Given the description of an element on the screen output the (x, y) to click on. 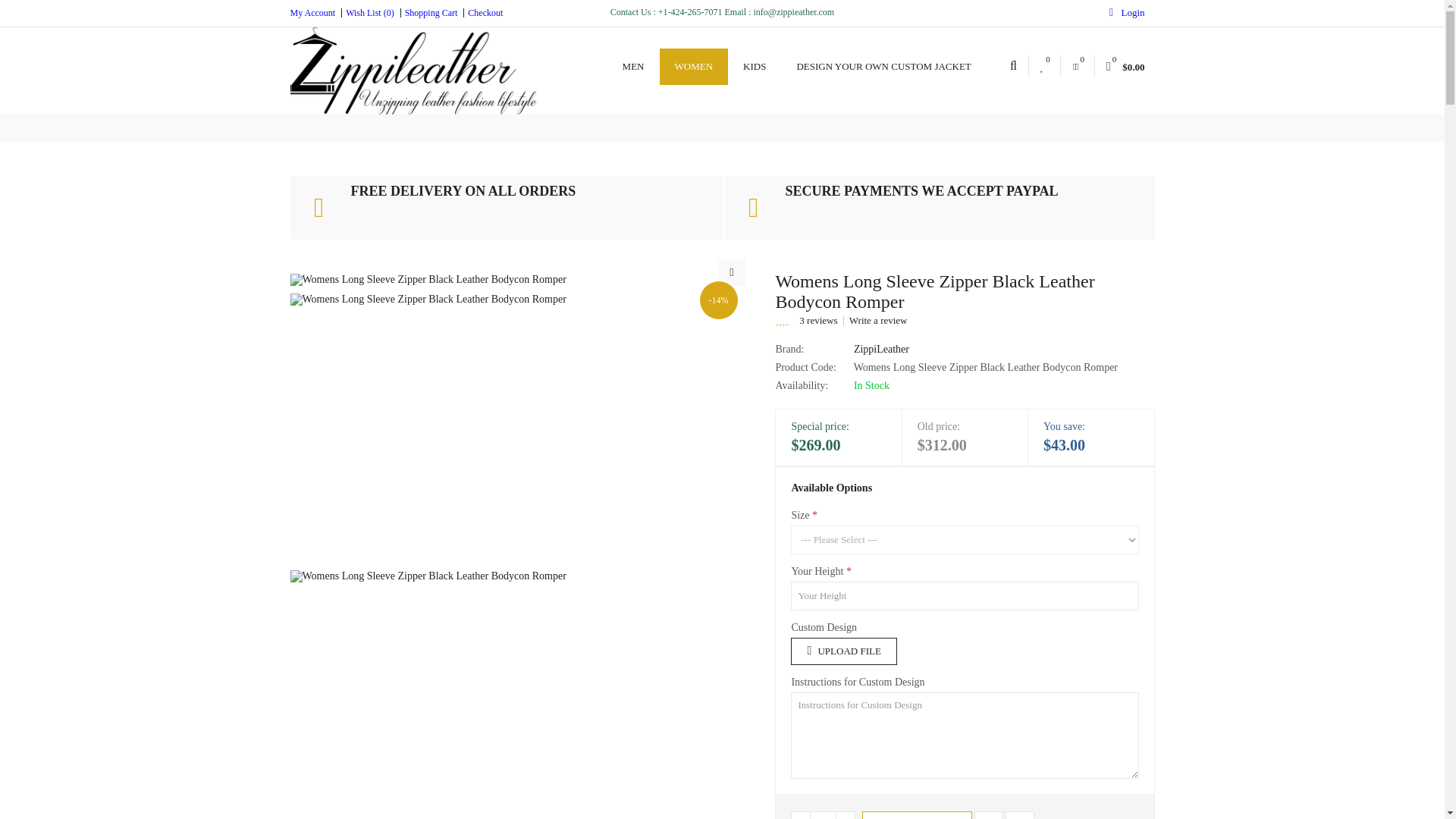
My Account (311, 12)
Womens Long Sleeve Zipper Black Leather Bodycon Romper (427, 694)
Womens Long Sleeve Zipper Black Leather Bodycon Romper (732, 272)
Shopping Cart (429, 12)
MEN (633, 66)
Login (1057, 177)
1 (822, 815)
Login (1126, 12)
WOMEN (694, 66)
Womens Long Sleeve Zipper Black Leather Bodycon Romper (427, 279)
Checkout (482, 12)
Womens Long Sleeve Zipper Black Leather Bodycon Romper (427, 279)
Womens Long Sleeve Zipper Black Leather Bodycon Romper (427, 431)
0 (1076, 66)
